Given the description of an element on the screen output the (x, y) to click on. 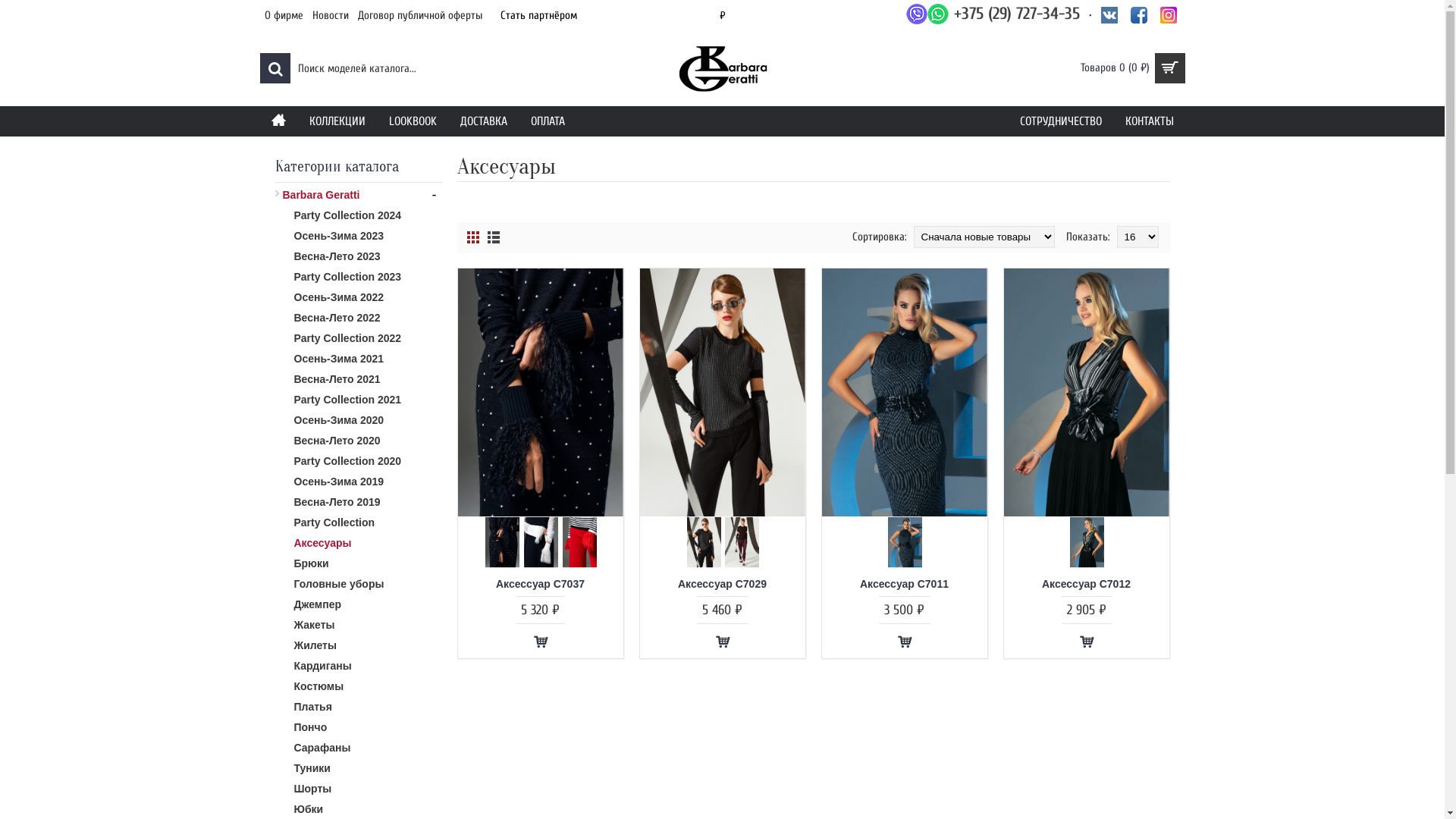
Party Collection 2020 Element type: text (357, 458)
Party Collection 2023 Element type: text (357, 274)
Party Collection 2022 Element type: text (357, 336)
Party Collection Element type: text (357, 520)
Party Collection 2021 Element type: text (357, 397)
Party Collection 2024 Element type: text (357, 213)
LOOKBOOK Element type: text (412, 121)
Barbara Geratti
- Element type: text (357, 192)
